Given the description of an element on the screen output the (x, y) to click on. 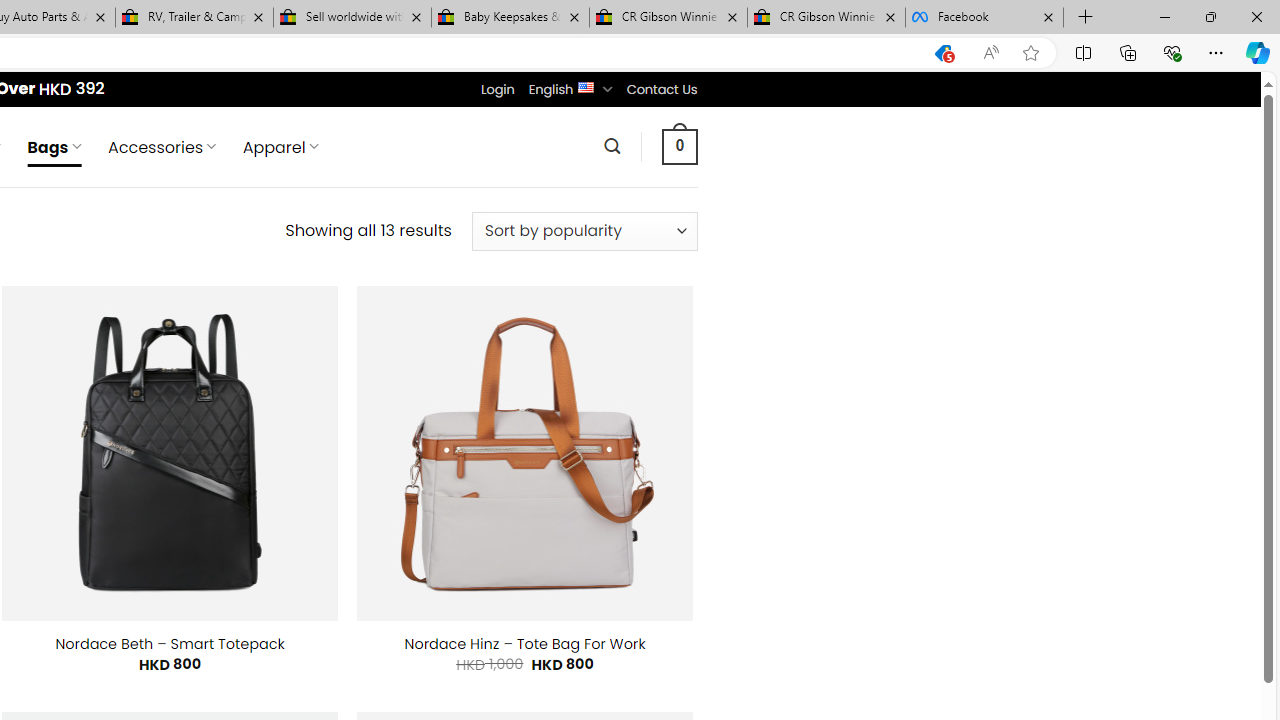
Facebook (984, 17)
This site has coupons! Shopping in Microsoft Edge, 5 (943, 53)
